Given the description of an element on the screen output the (x, y) to click on. 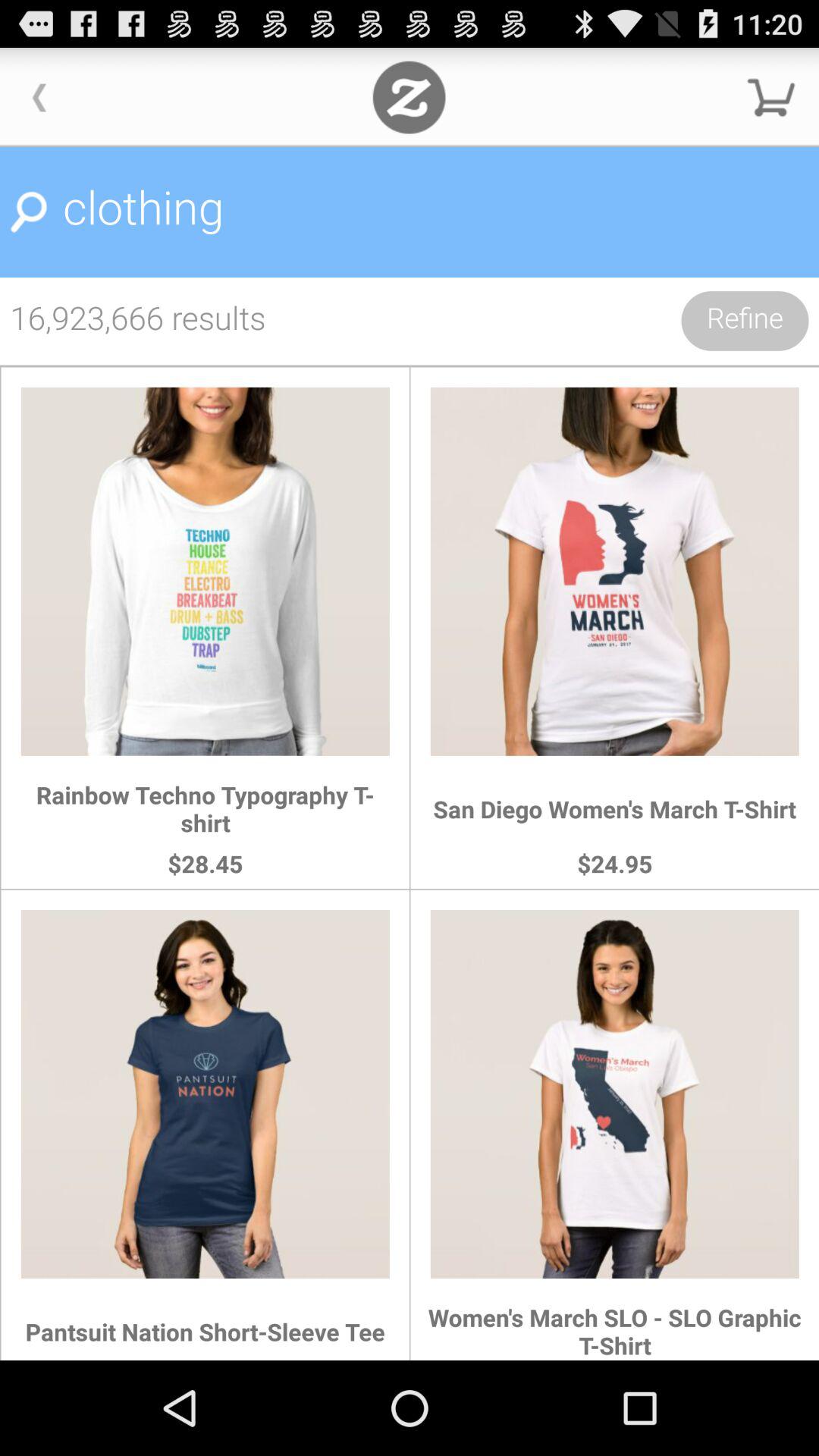
check out (771, 97)
